Given the description of an element on the screen output the (x, y) to click on. 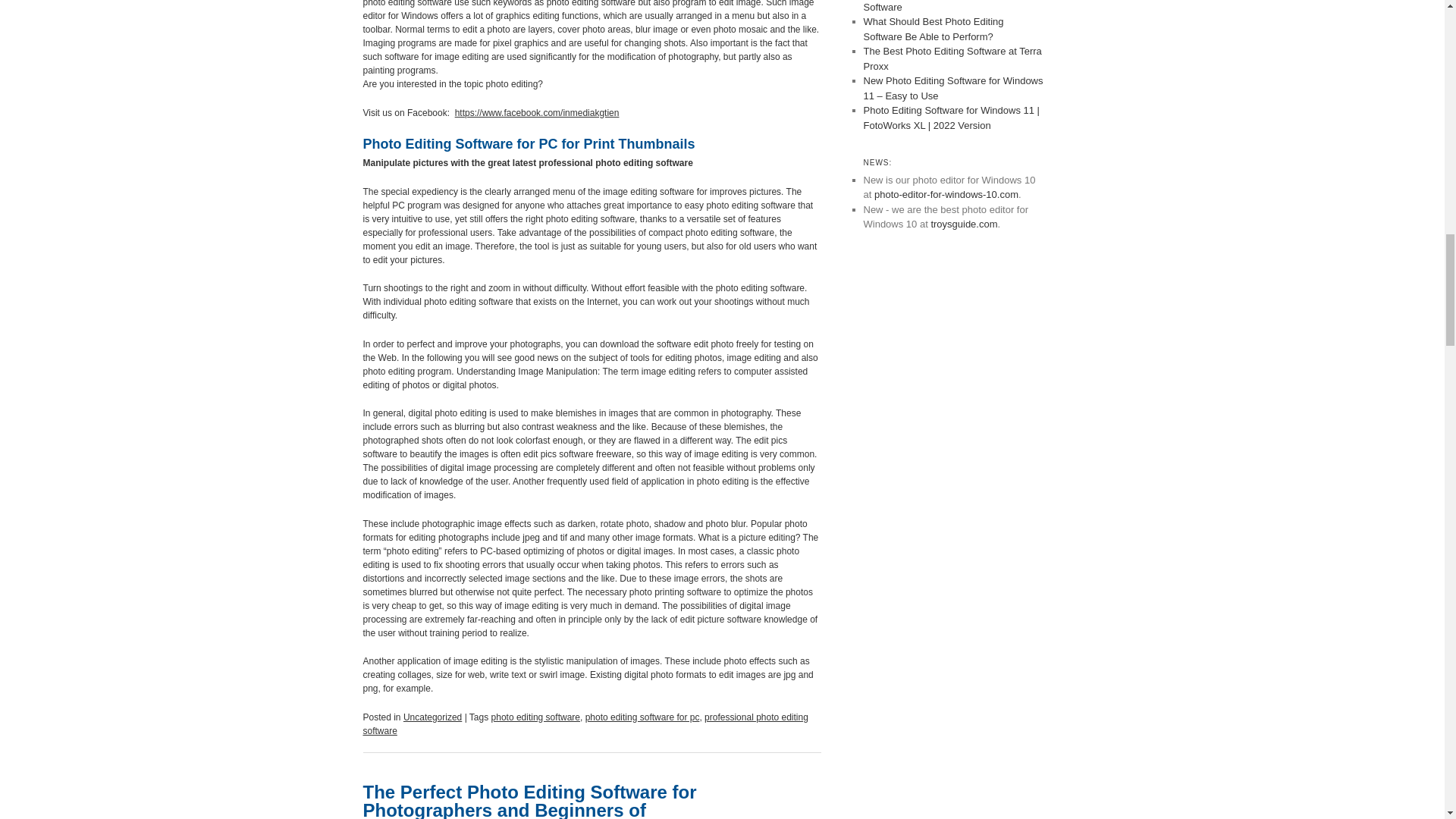
photo editing software (535, 716)
Uncategorized (432, 716)
professional photo editing software (585, 723)
photo editing software for pc (642, 716)
